Given the description of an element on the screen output the (x, y) to click on. 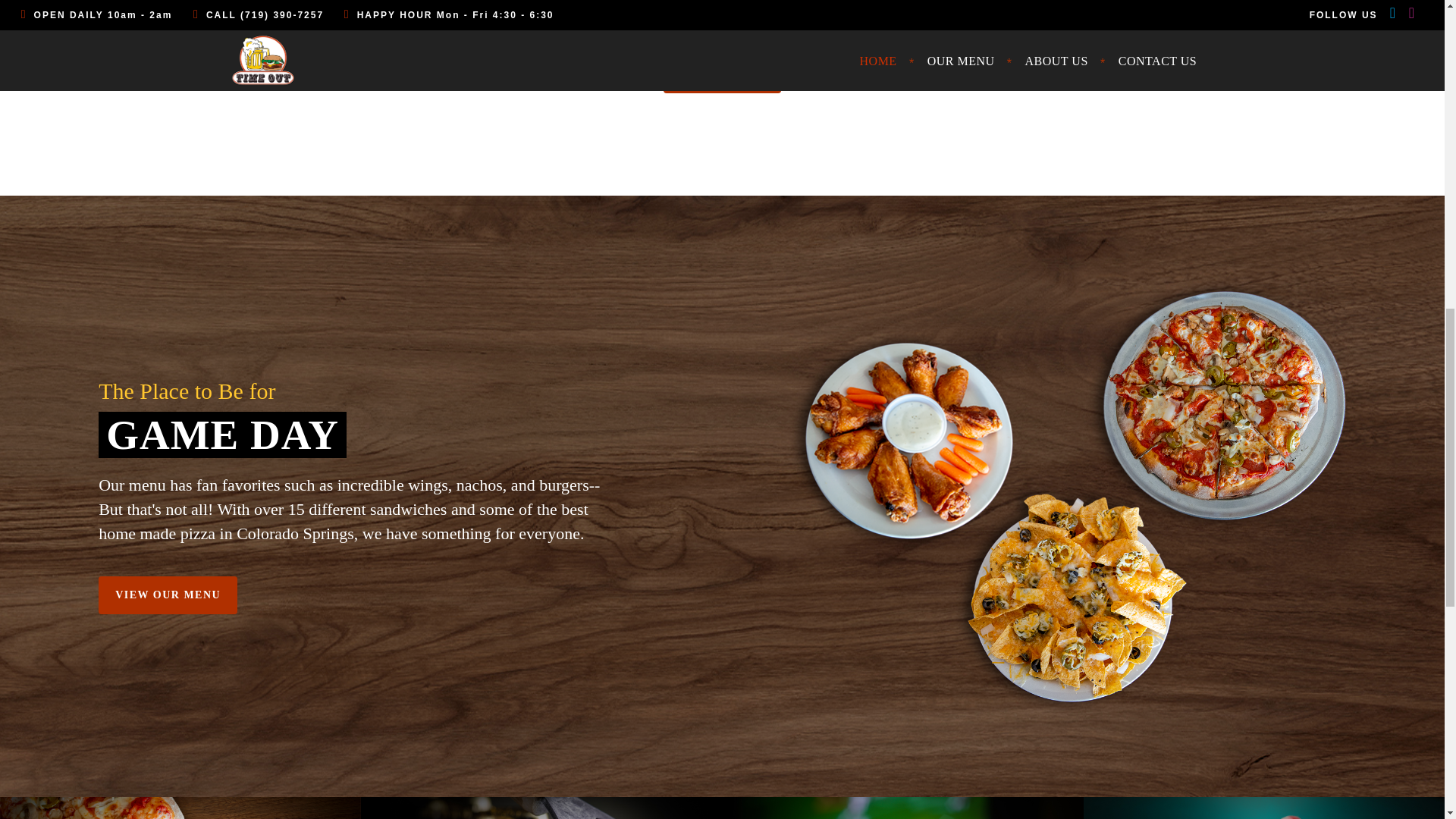
VIEW OUR MENU (168, 595)
LEARN MORE (721, 74)
